Given the description of an element on the screen output the (x, y) to click on. 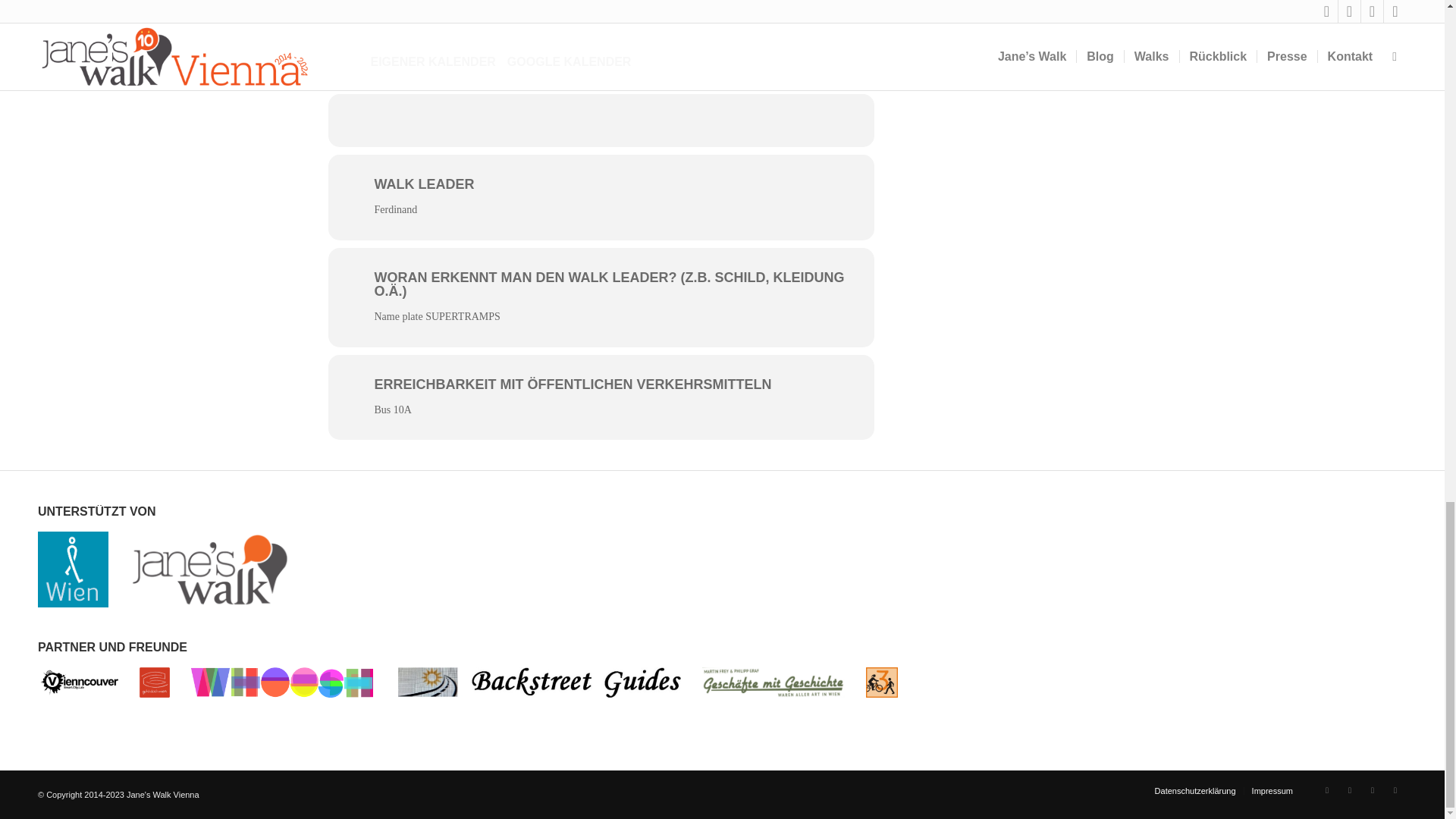
Auf Facebook teilen (532, 120)
Auf Twitter teilen (577, 120)
Facebook (1327, 789)
Instagram (1349, 789)
Auf LinkedIn teilen (624, 120)
